Given the description of an element on the screen output the (x, y) to click on. 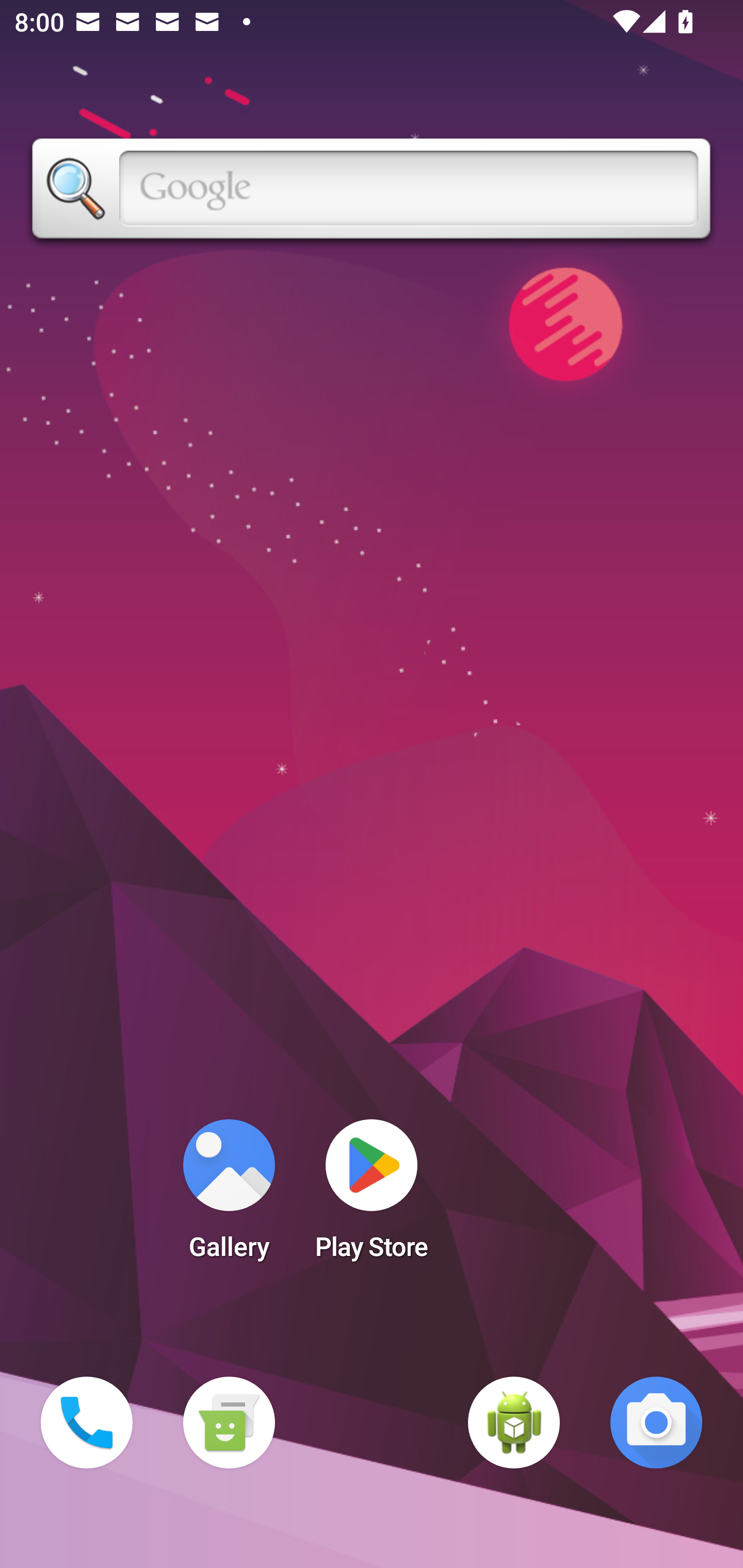
Gallery (228, 1195)
Play Store (371, 1195)
Phone (86, 1422)
Messaging (228, 1422)
WebView Browser Tester (513, 1422)
Camera (656, 1422)
